Given the description of an element on the screen output the (x, y) to click on. 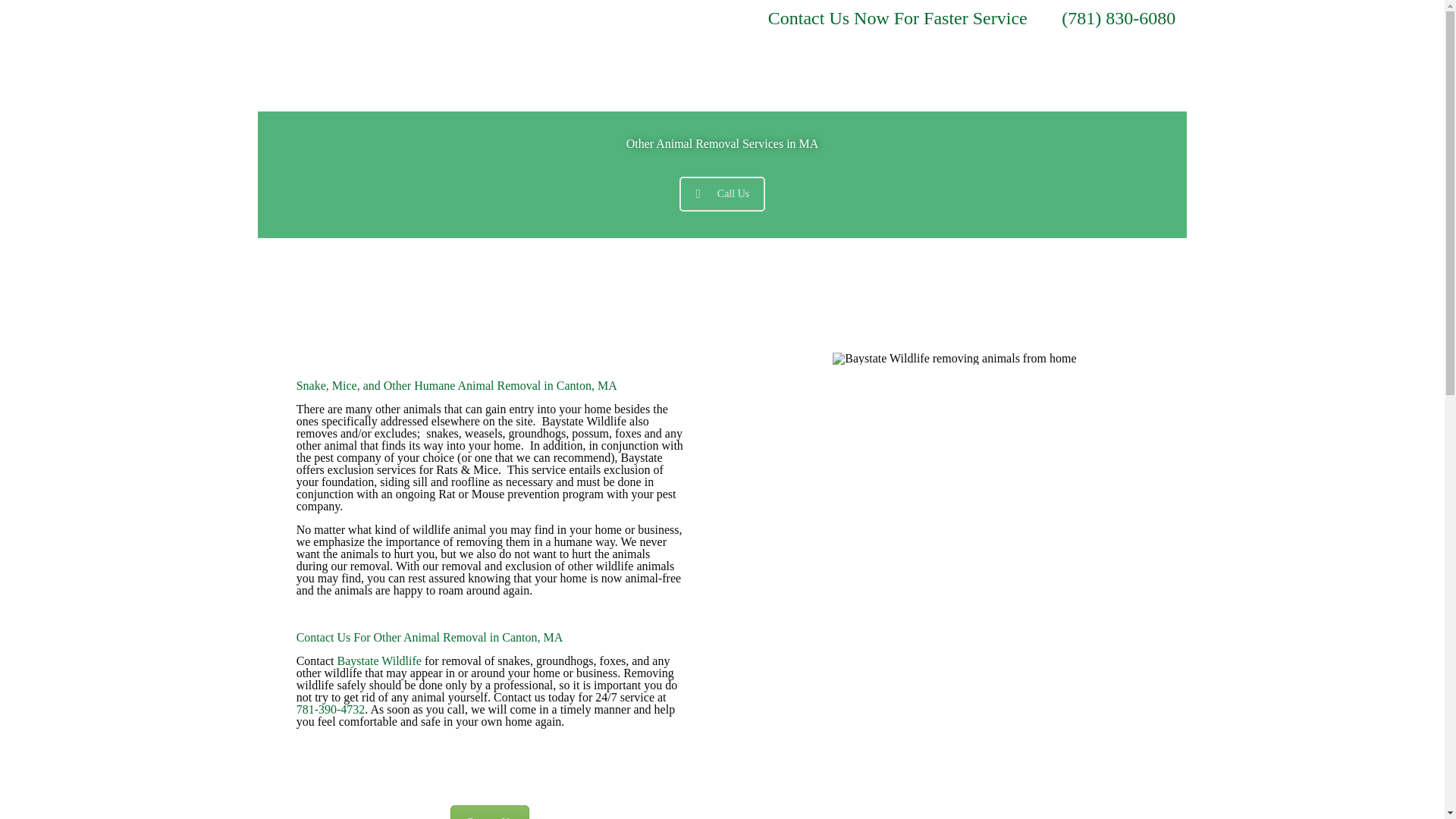
RSS (724, 19)
gallery4 (953, 358)
Contact Us Now For Faster Service (897, 17)
Twitter (682, 19)
Baystate Wildlife (378, 660)
Facebook (661, 19)
Contact Us (489, 812)
781-390-4732 (331, 708)
Call Us (722, 193)
Pinterest (703, 19)
